Given the description of an element on the screen output the (x, y) to click on. 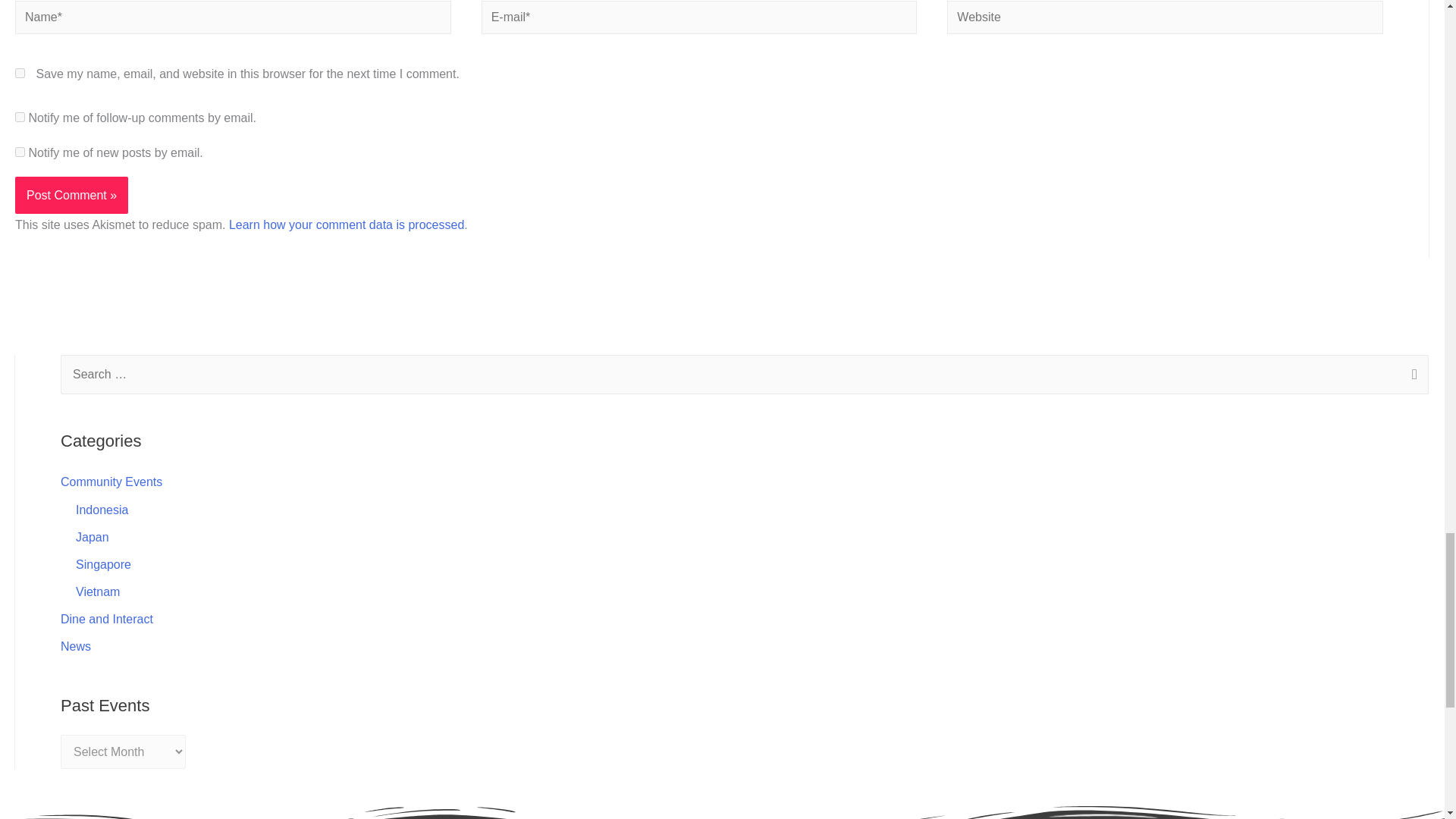
Indonesia (101, 509)
Search (1411, 375)
Japan (92, 536)
Learn how your comment data is processed (346, 224)
subscribe (19, 152)
yes (19, 72)
Dine and Interact (106, 618)
Community Events (111, 481)
Vietnam (97, 591)
News (75, 645)
Singapore (103, 563)
Search (1411, 375)
subscribe (19, 117)
Search (1411, 375)
